Given the description of an element on the screen output the (x, y) to click on. 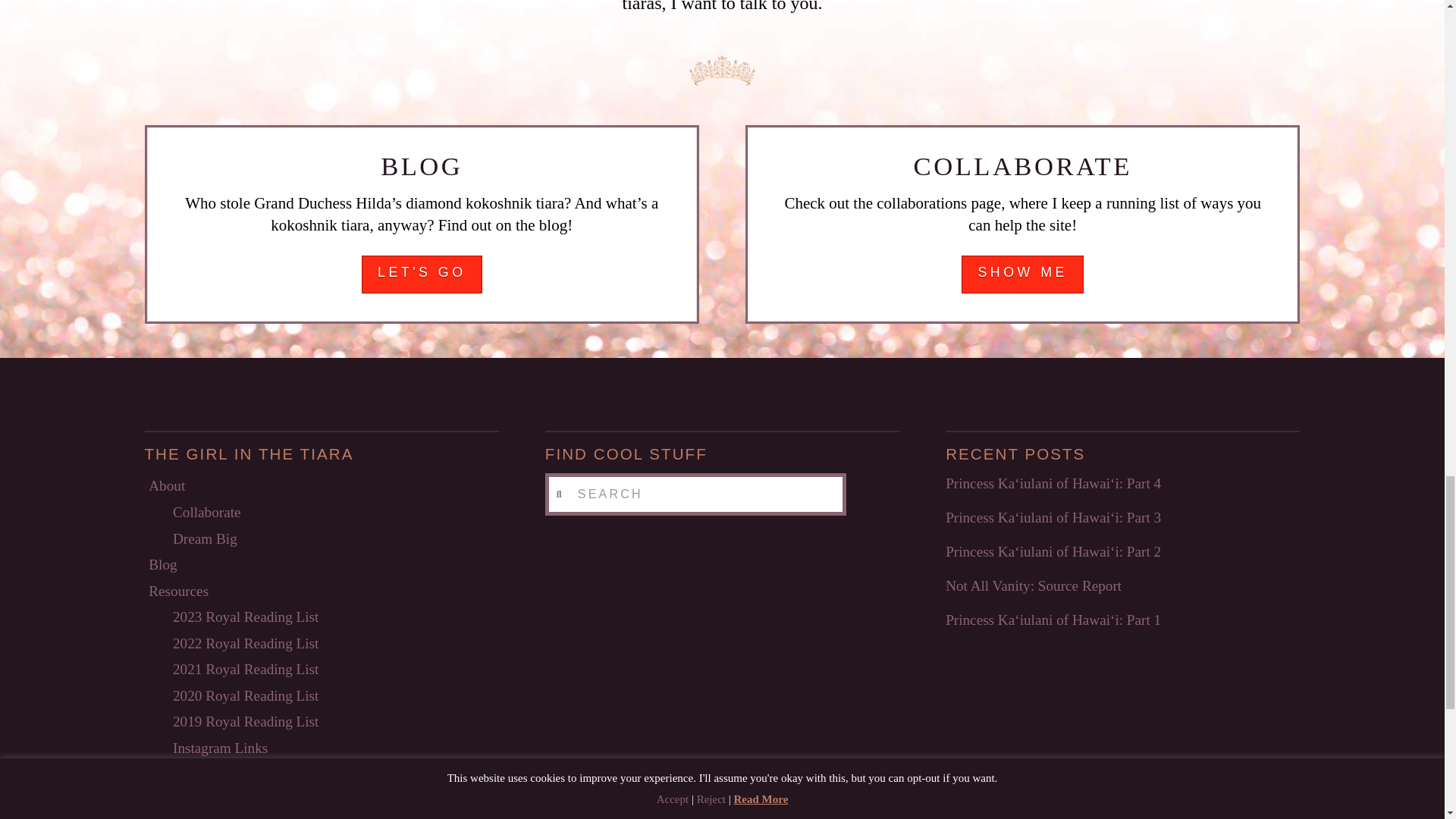
Let's Go (421, 274)
Show Me (1021, 274)
